Given the description of an element on the screen output the (x, y) to click on. 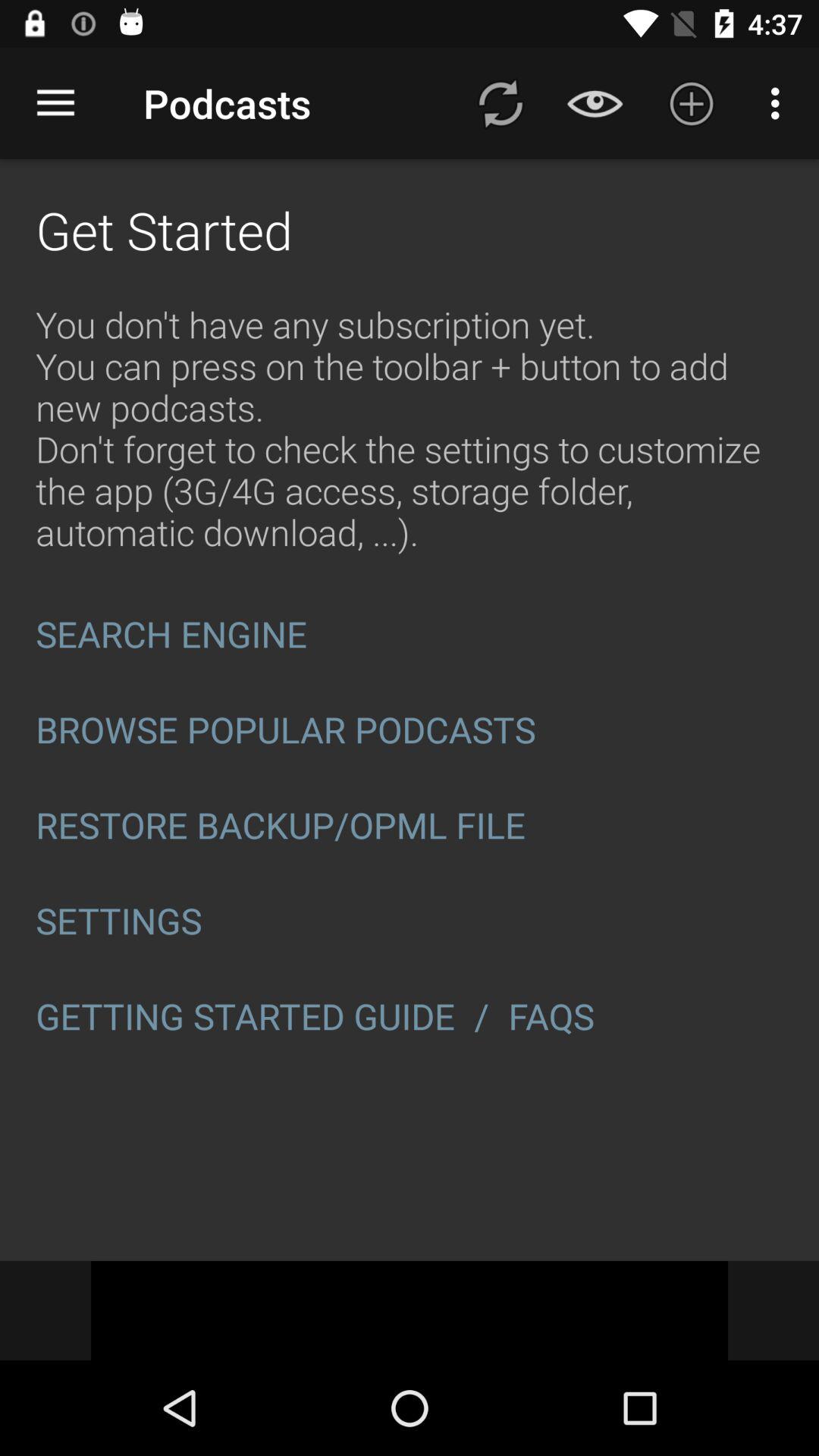
launch icon below the you don t icon (409, 633)
